Given the description of an element on the screen output the (x, y) to click on. 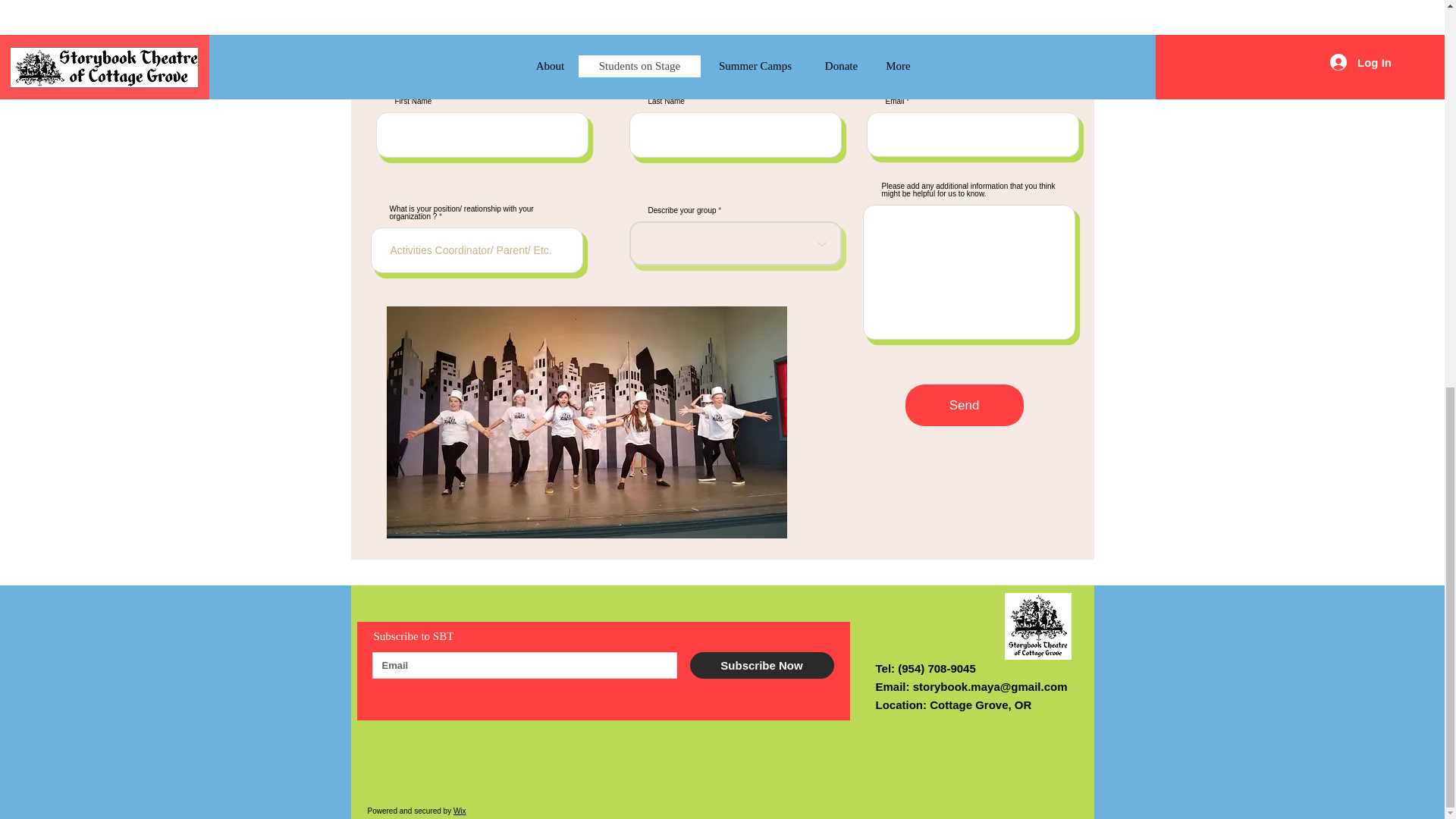
Send (964, 404)
Subscribe Now (762, 664)
Wix (458, 810)
